Given the description of an element on the screen output the (x, y) to click on. 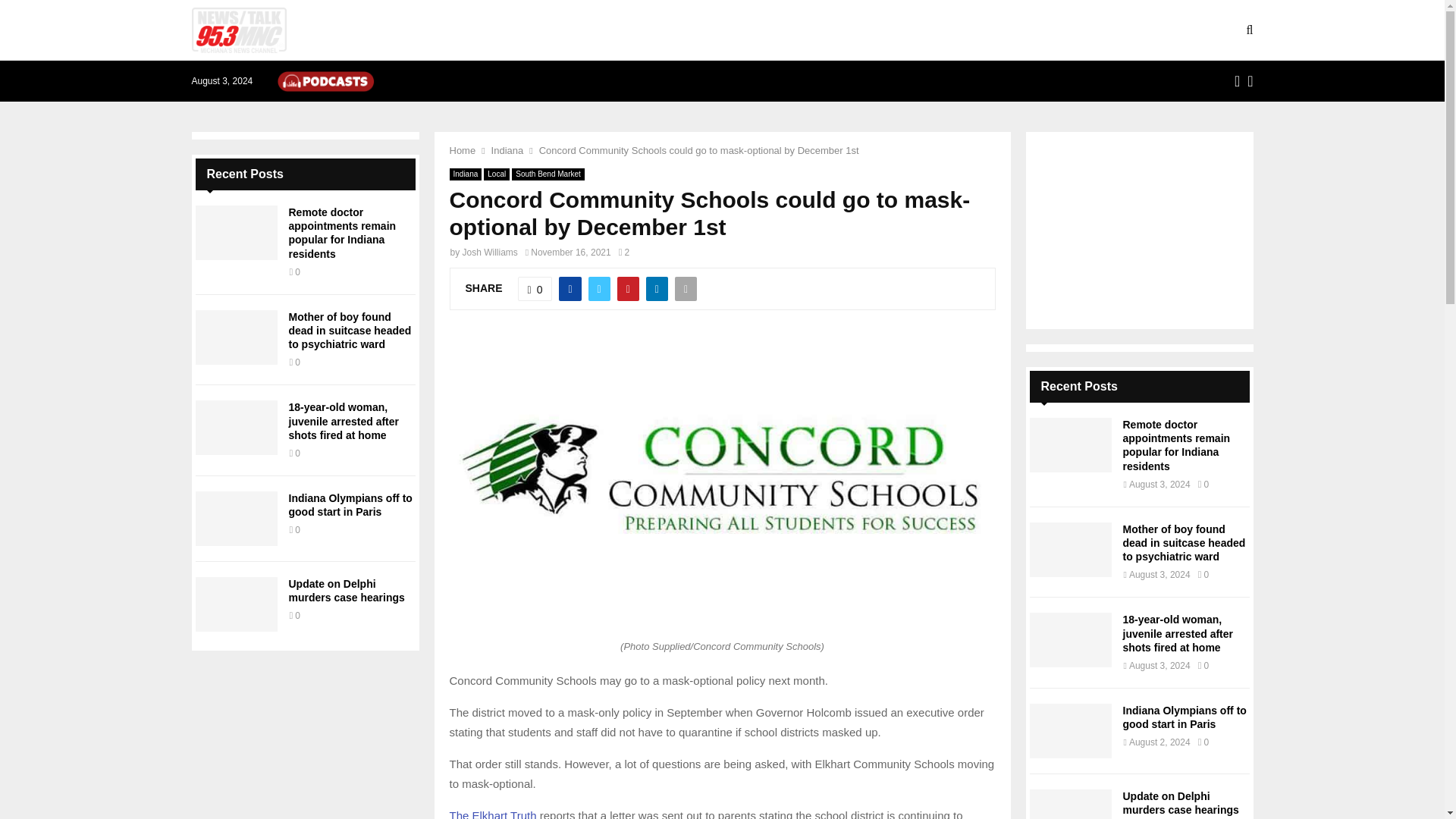
NEWS (468, 30)
LISTEN LIVE (388, 30)
Twitter (1249, 80)
Facebook (1237, 80)
Like (535, 288)
SHOWS (536, 30)
